Given the description of an element on the screen output the (x, y) to click on. 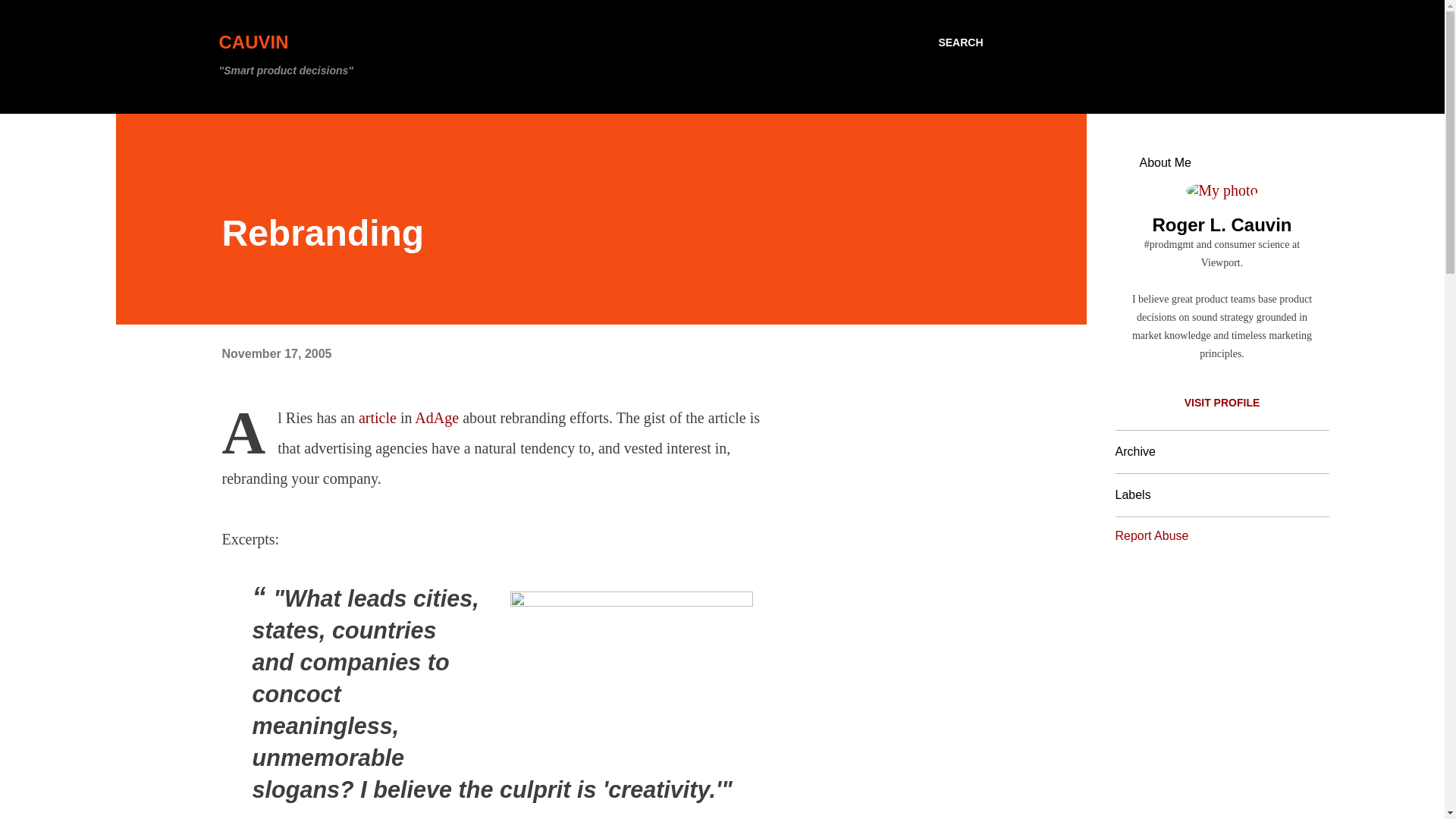
SEARCH (959, 42)
Roger L. Cauvin (1221, 224)
CAUVIN (253, 41)
article (377, 417)
permanent link (276, 353)
AdAge (436, 417)
November 17, 2005 (276, 353)
